Given the description of an element on the screen output the (x, y) to click on. 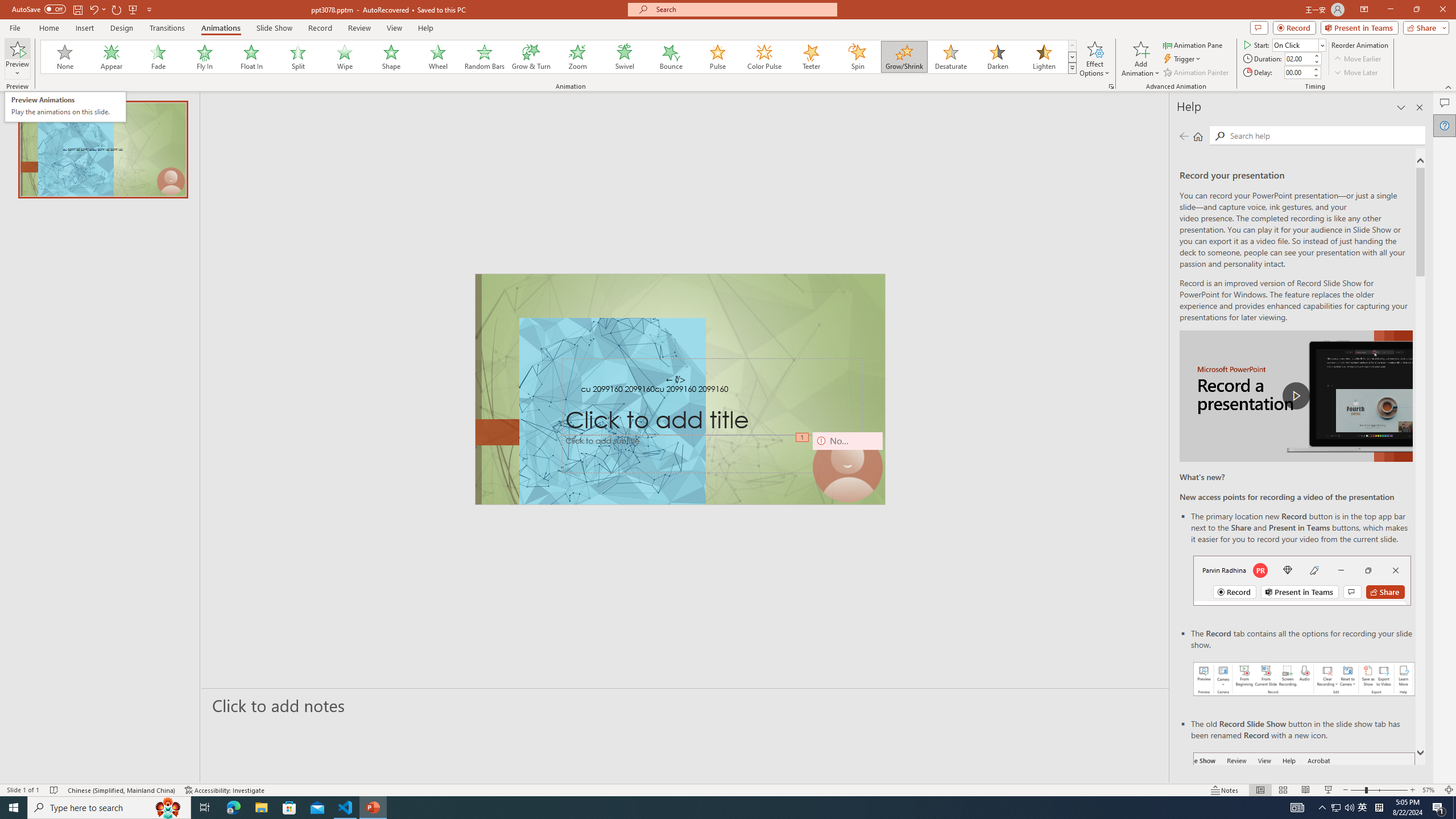
Zoom 57% (1430, 790)
Grow & Turn (531, 56)
None (65, 56)
Add Animation (1141, 58)
Animation Painter (1196, 72)
